Given the description of an element on the screen output the (x, y) to click on. 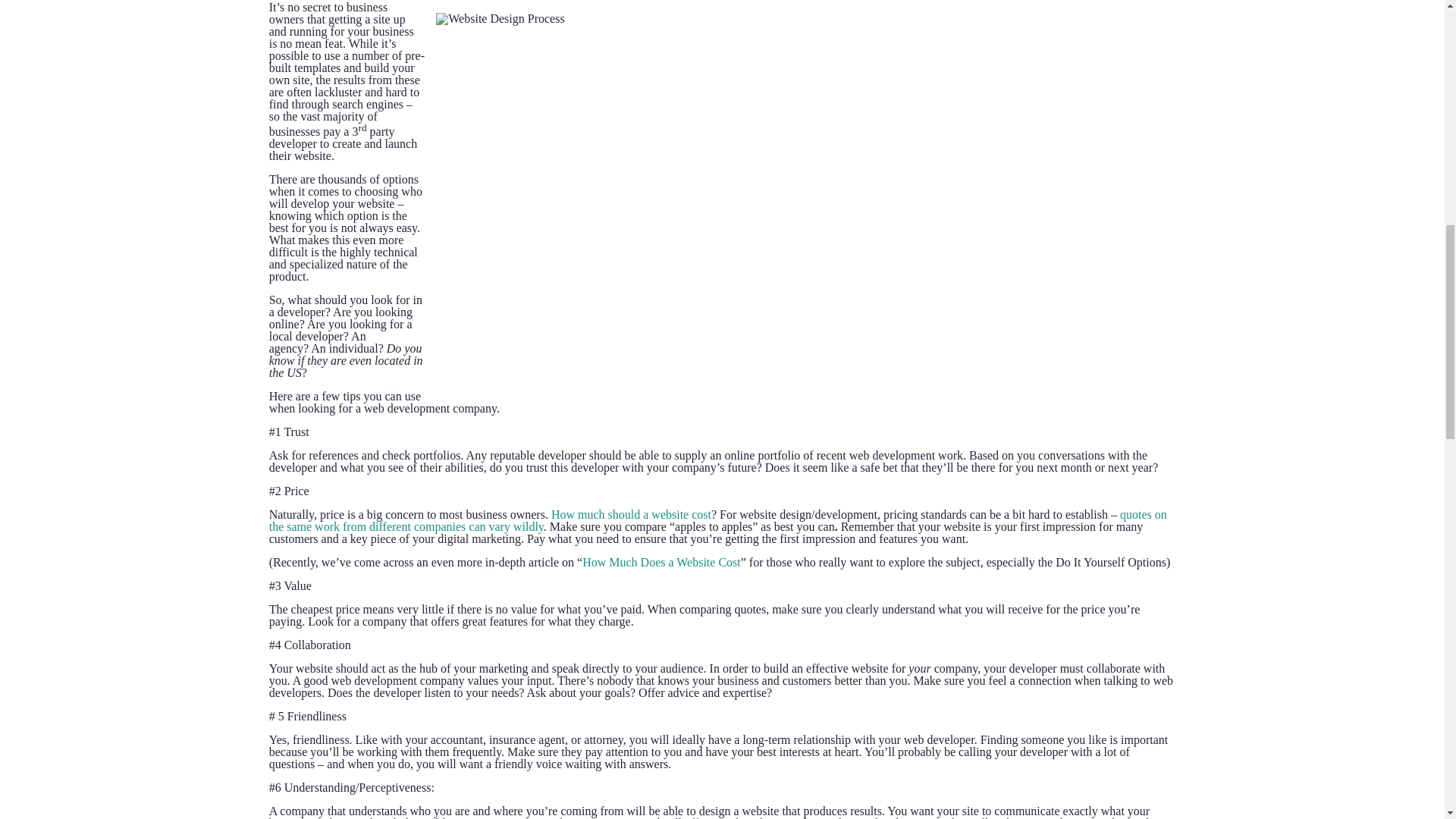
How Much Does a Website Cost (661, 562)
How much should a website cost (631, 513)
